Given the description of an element on the screen output the (x, y) to click on. 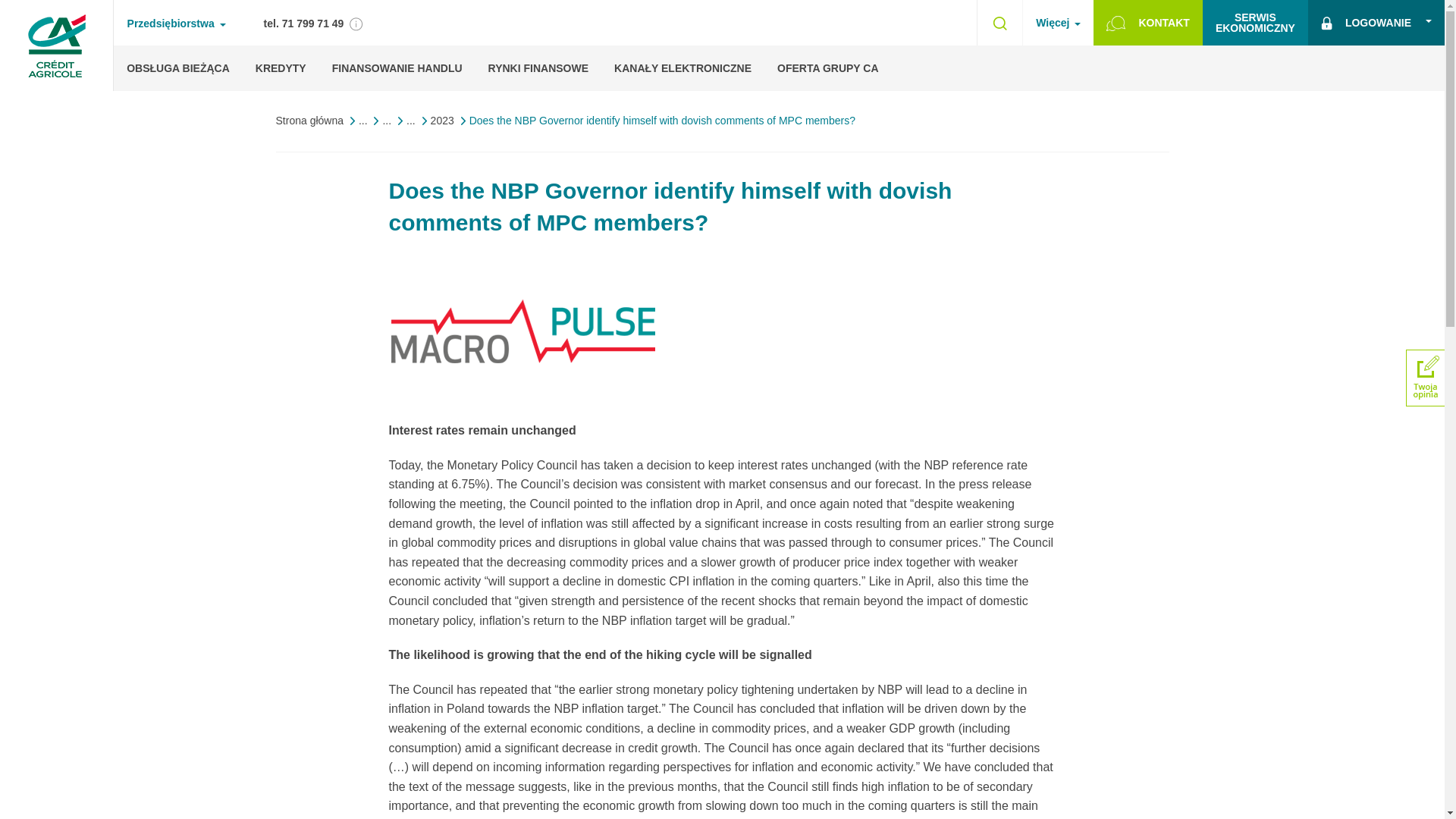
tel. 71 799 71 49 (1254, 22)
KONTAKT (303, 23)
